Given the description of an element on the screen output the (x, y) to click on. 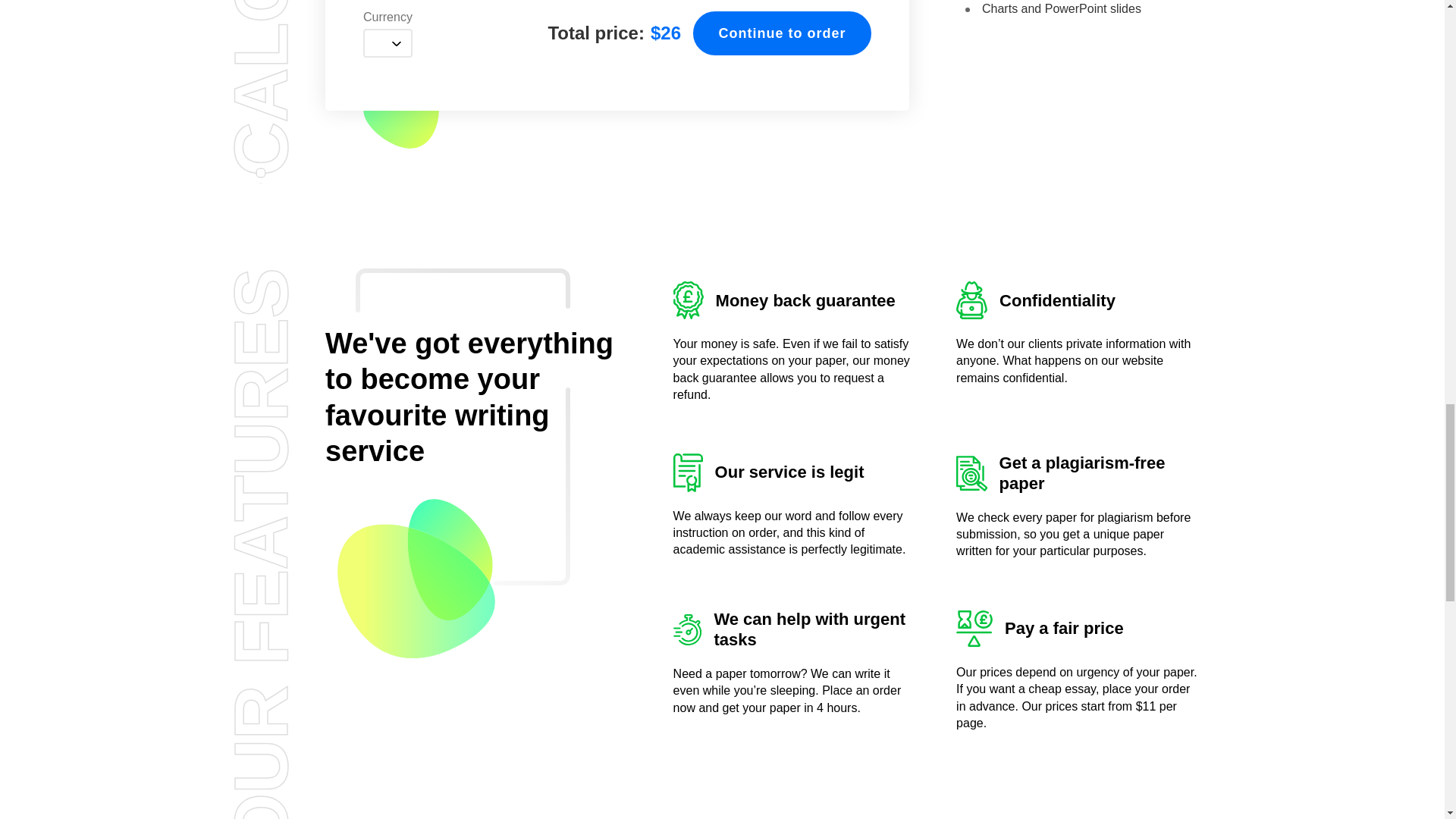
Continue to Order (781, 33)
Continue to order (781, 33)
